Given the description of an element on the screen output the (x, y) to click on. 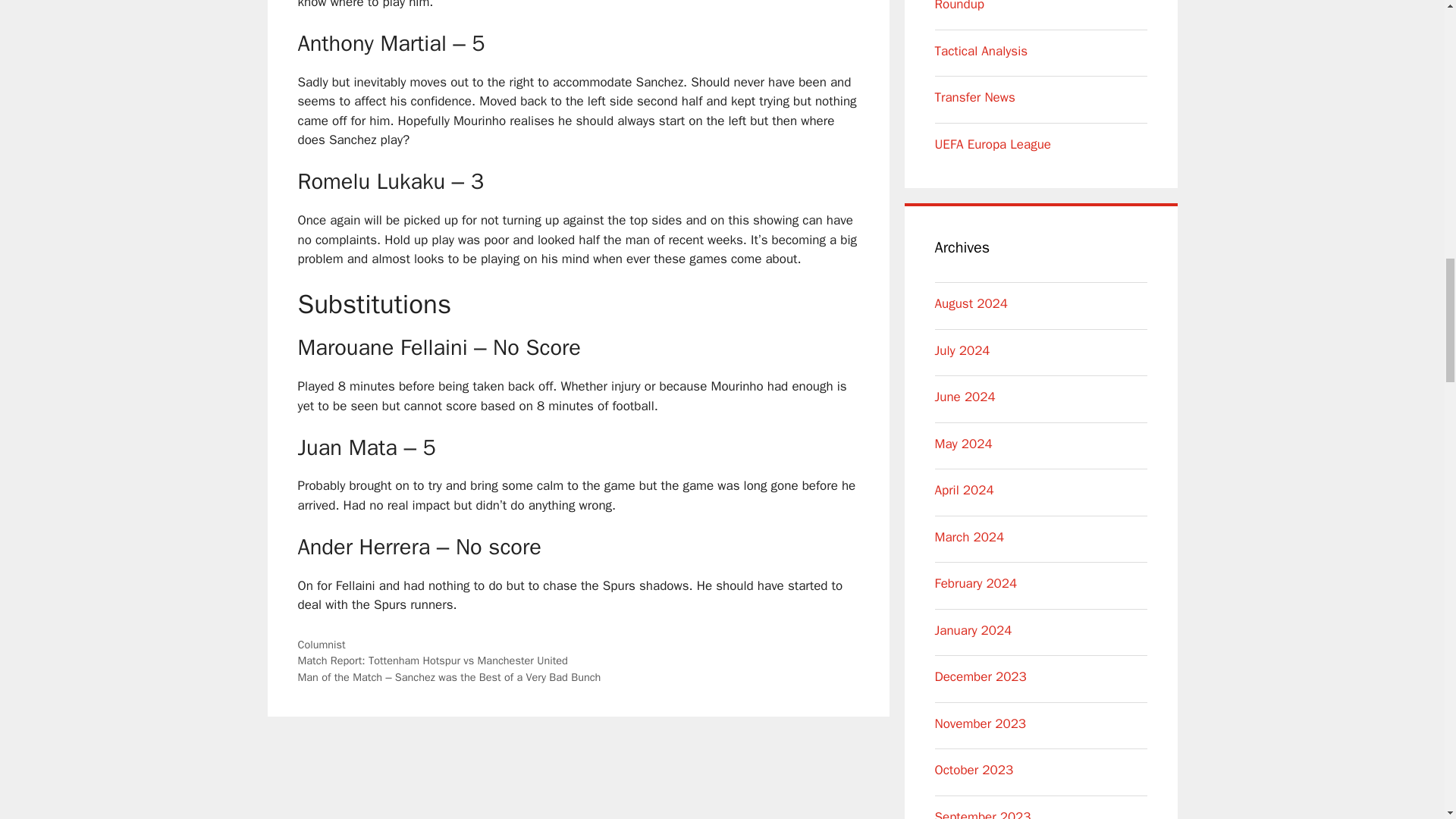
Columnist (321, 644)
Roundup (959, 6)
Tactical Analysis (980, 50)
Match Report: Tottenham Hotspur vs Manchester United (432, 660)
